Given the description of an element on the screen output the (x, y) to click on. 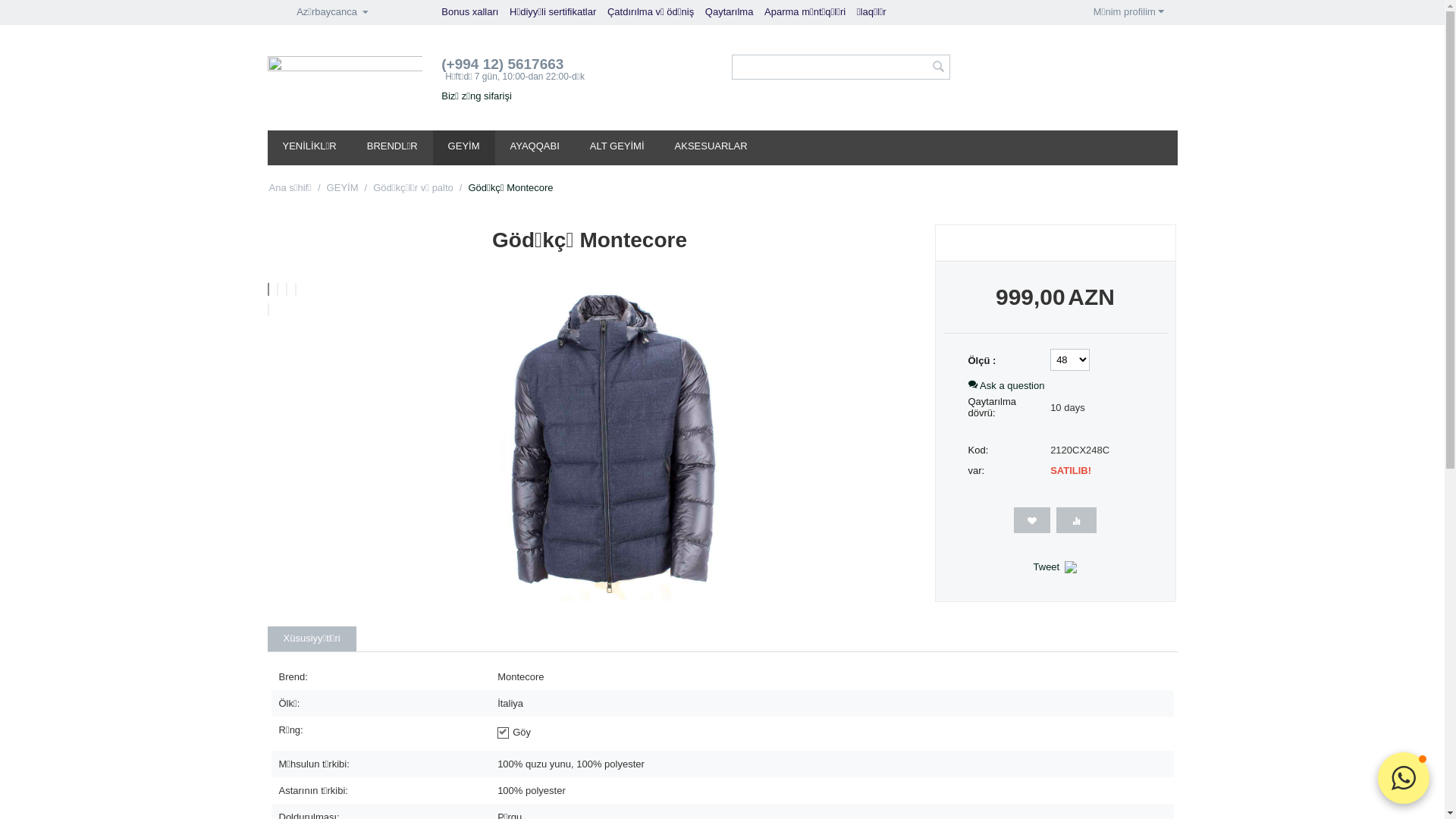
Tweet Element type: text (1046, 566)
Ask a question Element type: text (1005, 385)
AKSESUARLAR Element type: text (710, 147)
AYAQQABI Element type: text (534, 147)
Axtar Element type: hover (938, 68)
